Given the description of an element on the screen output the (x, y) to click on. 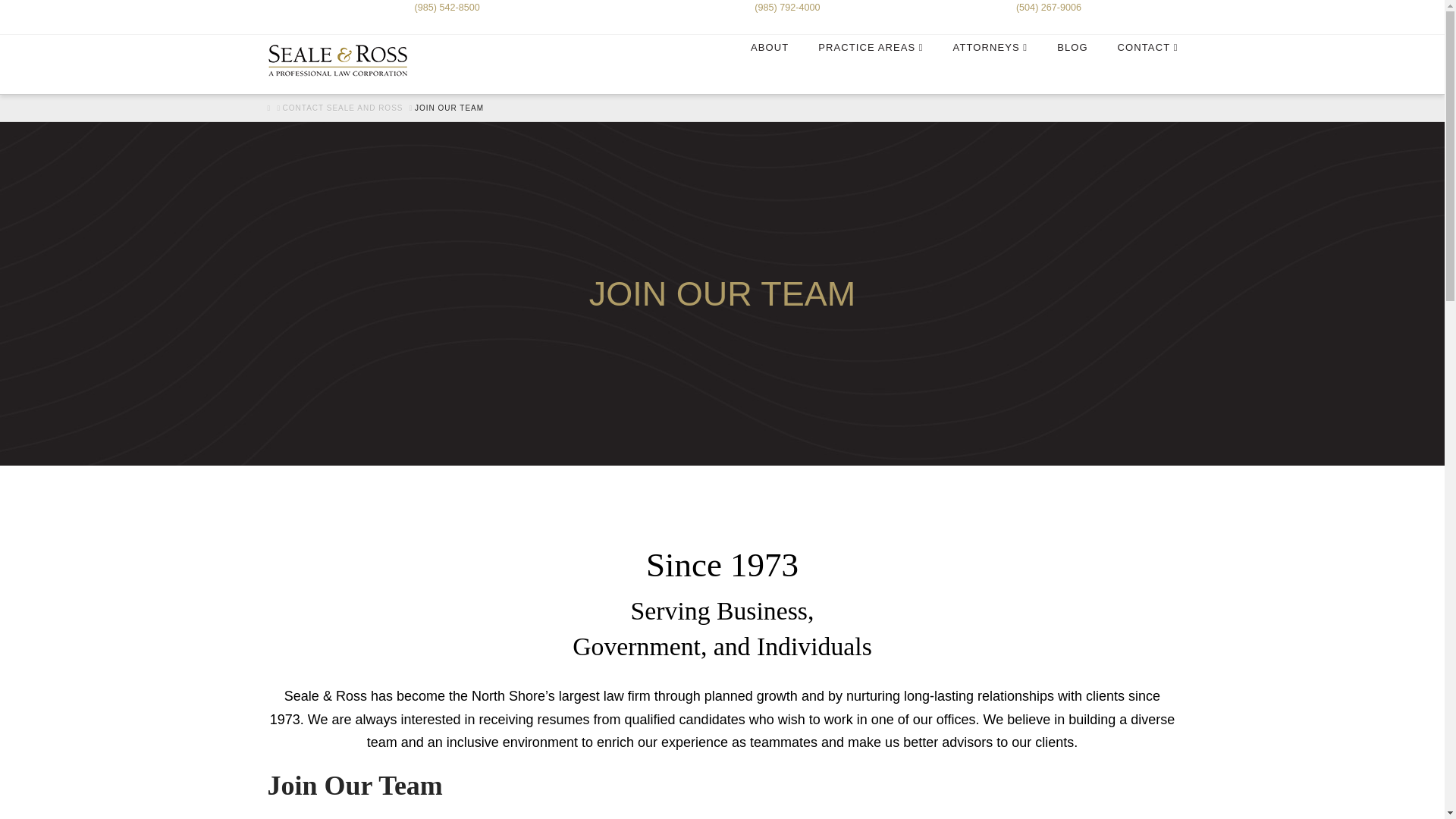
ATTORNEYS (990, 64)
PRACTICE AREAS (869, 64)
You Are Here (448, 108)
CONTACT (1147, 64)
